Given the description of an element on the screen output the (x, y) to click on. 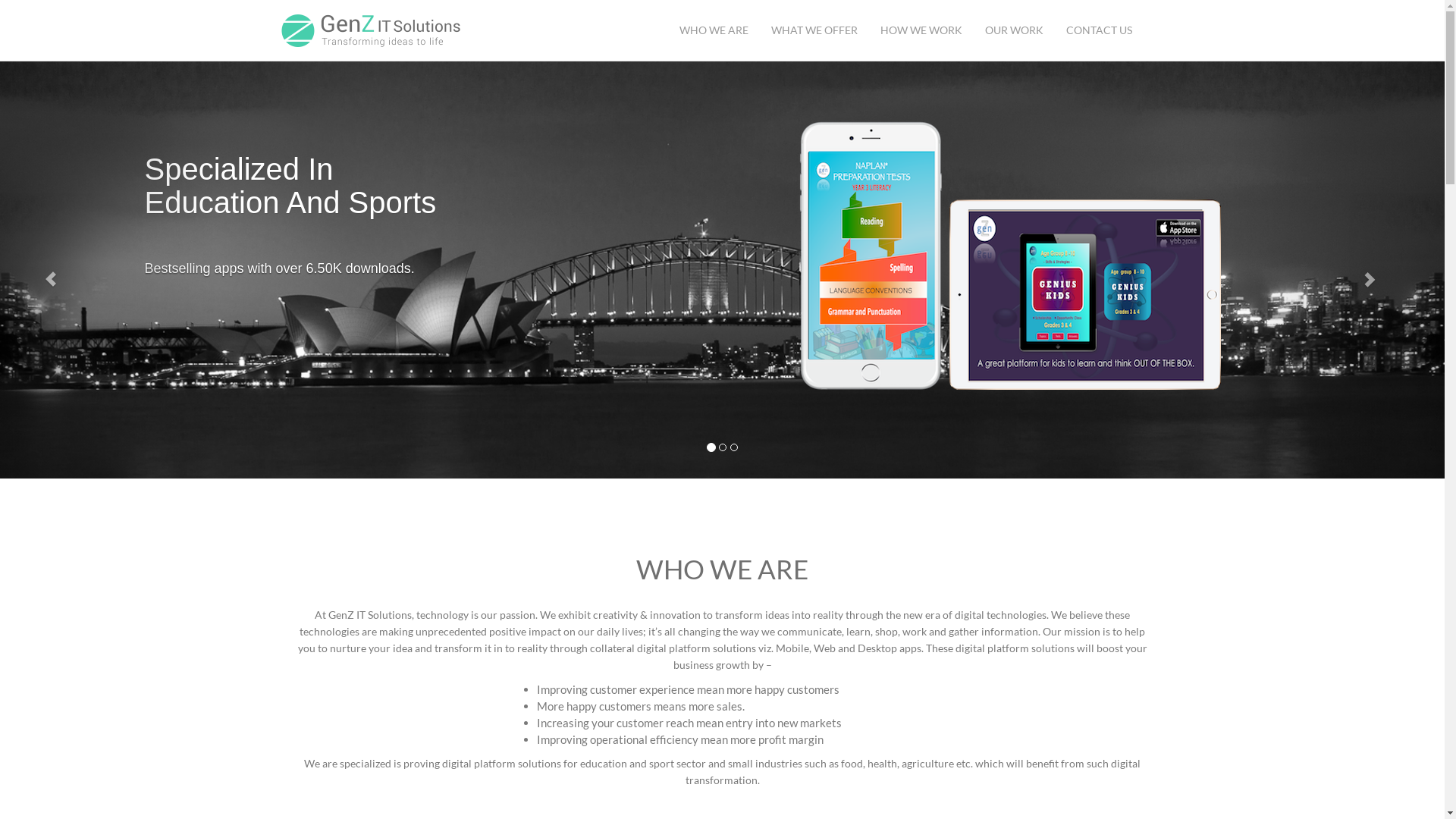
Previous Element type: text (108, 269)
WHAT WE OFFER Element type: text (814, 29)
CONTACT US Element type: text (1098, 29)
OUR WORK Element type: text (1013, 29)
HOW WE WORK Element type: text (921, 29)
Next Element type: text (1335, 269)
WHO WE ARE Element type: text (713, 29)
